Given the description of an element on the screen output the (x, y) to click on. 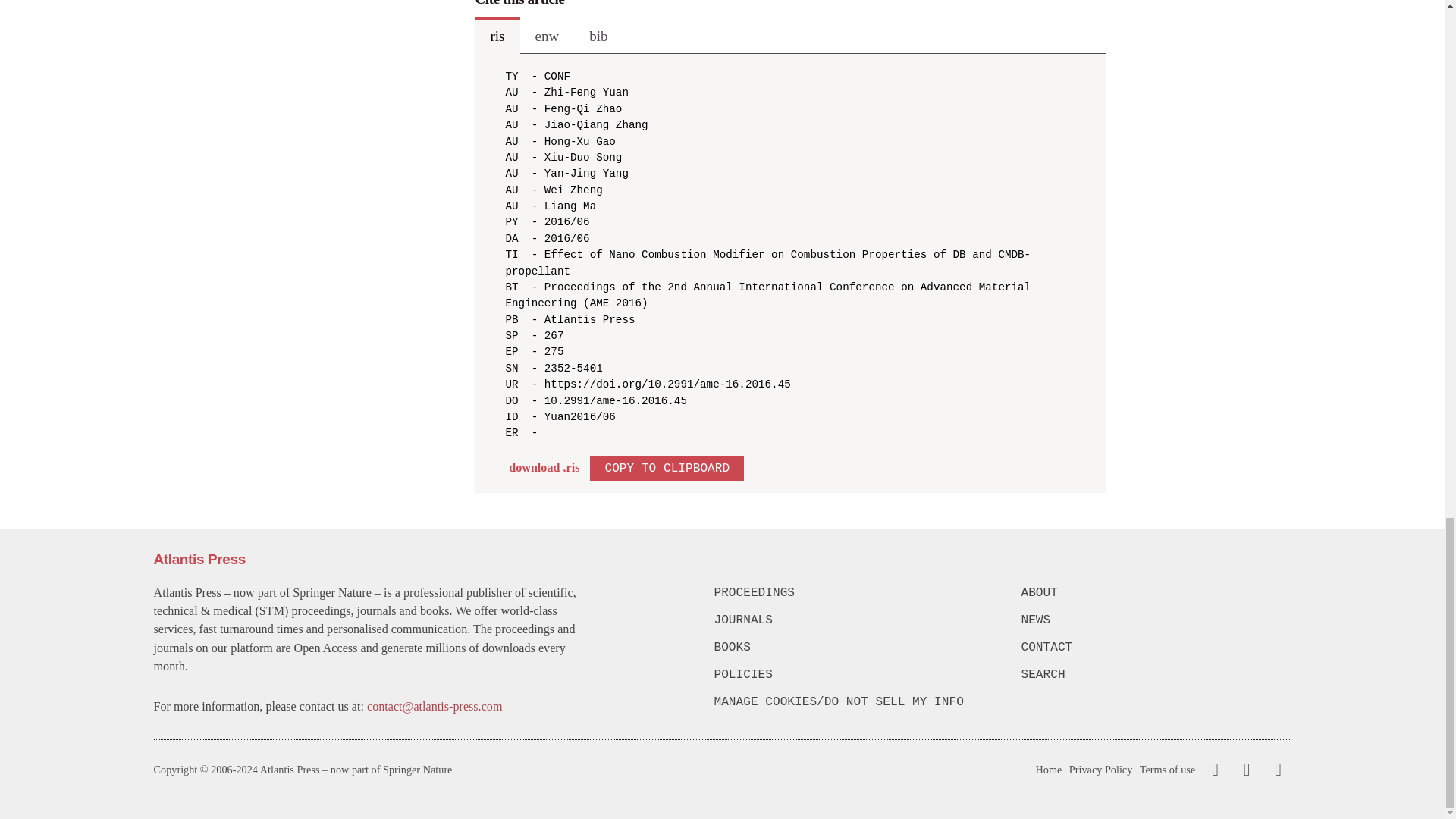
Facebook (1215, 769)
enw (547, 35)
ABOUT (1155, 592)
PROCEEDINGS (849, 592)
ris (496, 35)
JOURNALS (849, 620)
Atlantis Press (198, 559)
Twitter (1243, 769)
POLICIES (849, 674)
COPY TO CLIPBOARD (666, 467)
